Given the description of an element on the screen output the (x, y) to click on. 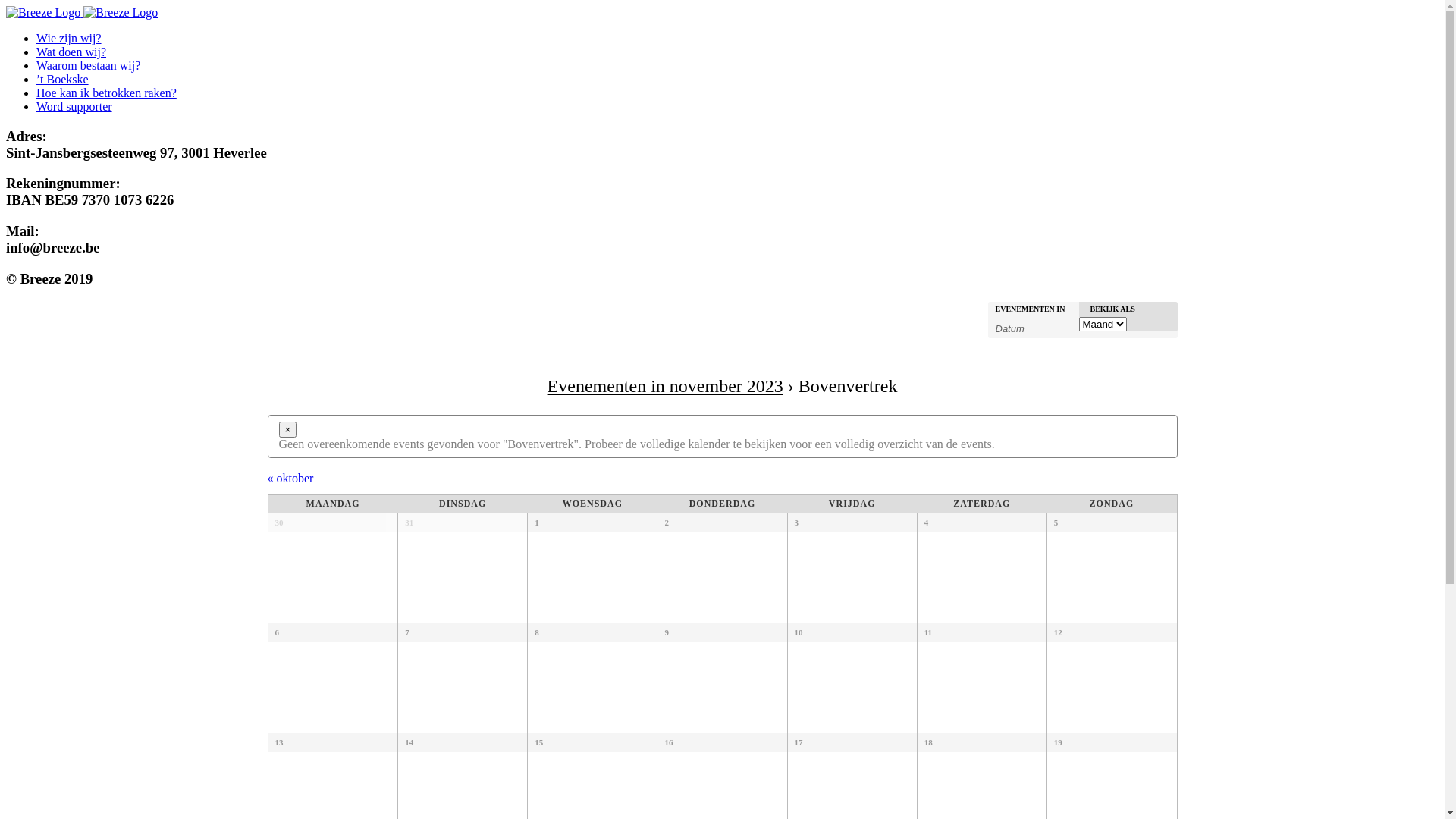
Wat doen wij? Element type: text (71, 51)
Wie zijn wij? Element type: text (68, 37)
Hoe kan ik betrokken raken? Element type: text (106, 92)
Word supporter Element type: text (74, 106)
Skip to content Element type: text (6, 6)
Waarom bestaan wij? Element type: text (88, 65)
Evenementen in november 2023 Element type: text (665, 385)
